Given the description of an element on the screen output the (x, y) to click on. 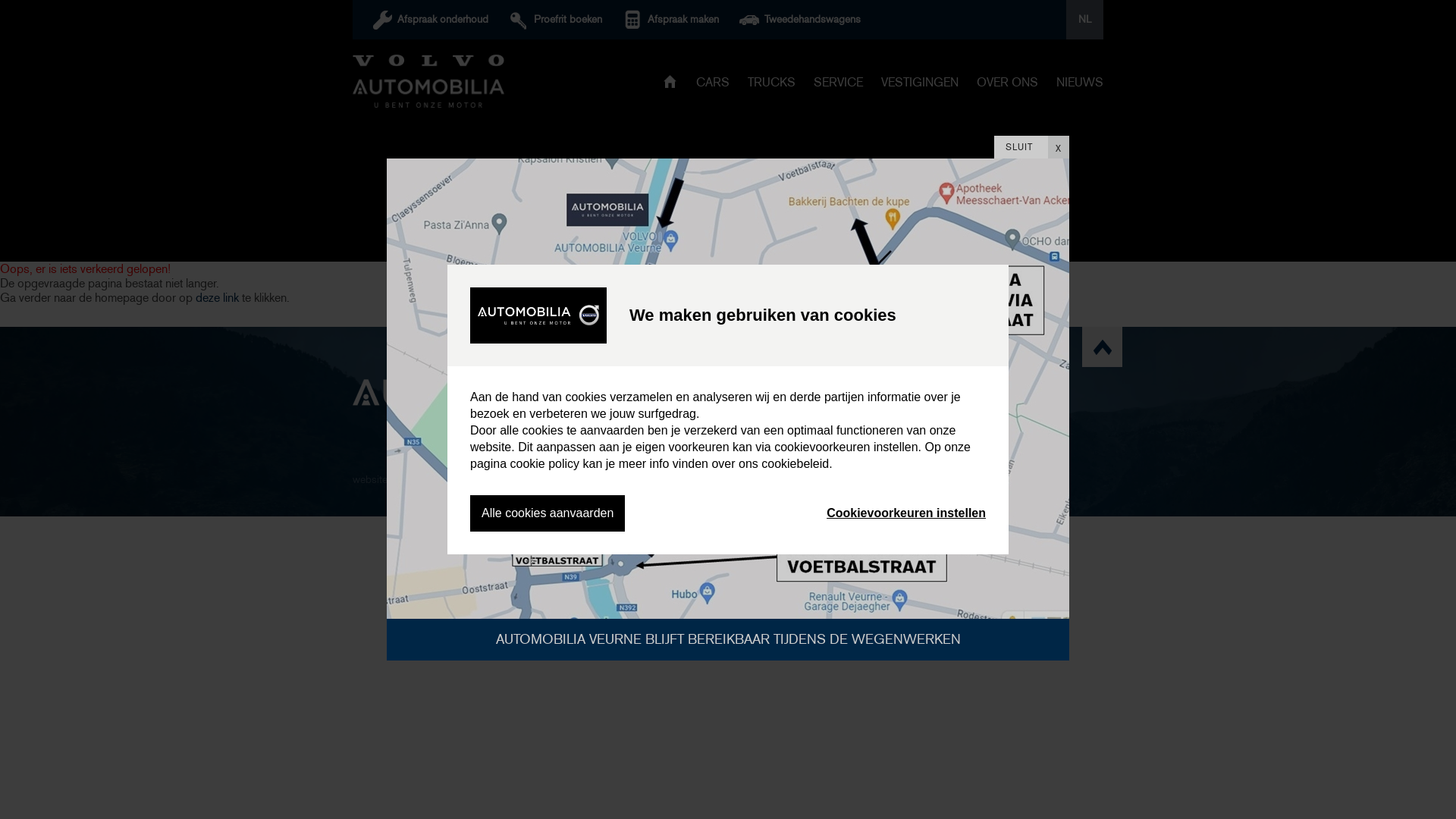
Privacy statement Element type: text (622, 479)
Afspraak maken Element type: text (677, 19)
HOME Element type: text (669, 83)
Alle cookies aanvaarden Element type: text (547, 513)
Afspraak onderhoud Element type: text (437, 19)
OVER ONS Element type: text (1007, 85)
scroll naar top Element type: text (1102, 346)
Tweedehandswagens Element type: text (806, 19)
digicreate.be Element type: text (432, 479)
Tielt Element type: text (800, 409)
Roeselare Element type: text (699, 456)
NIEUWS Element type: text (1079, 85)
cookie policy Element type: text (544, 463)
CARS Element type: text (712, 85)
Cookie policy Element type: text (702, 479)
Brugge Element type: text (699, 409)
SERVICE Element type: text (837, 85)
Algemene voorwaarden Element type: text (522, 479)
deze link Element type: text (216, 297)
TRUCKS Element type: text (771, 85)
Cookie instellingen Element type: text (784, 479)
Veurne Element type: text (800, 433)
Automobilia Element type: hover (428, 80)
Cookievoorkeuren instellen Element type: text (905, 513)
SLUIT
X Element type: text (1031, 146)
VESTIGINGEN Element type: text (919, 85)
NL Element type: text (1084, 19)
Proefrit boeken Element type: text (562, 19)
Oostende Element type: text (699, 433)
Zarren Element type: text (800, 456)
